Given the description of an element on the screen output the (x, y) to click on. 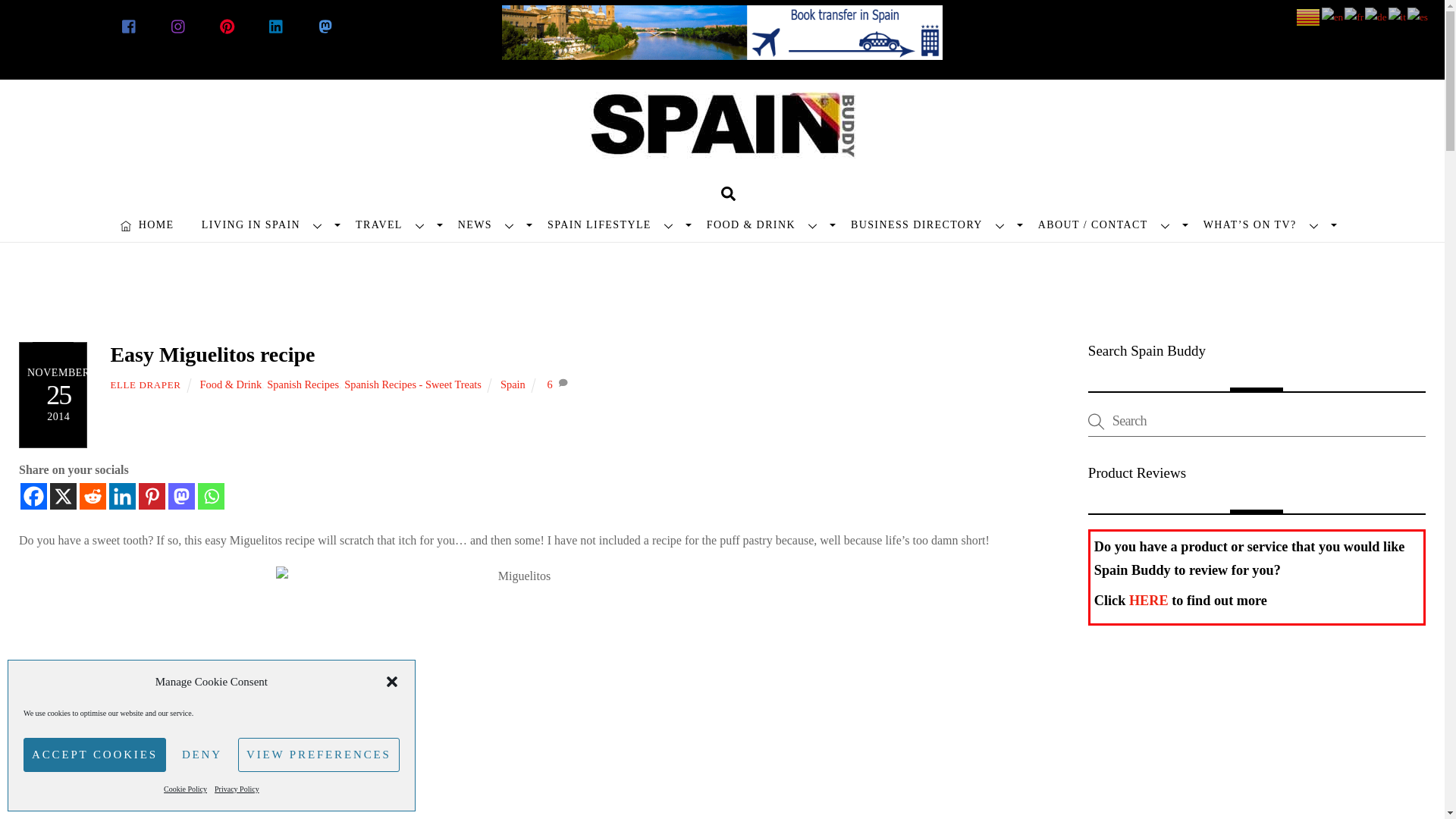
Search (727, 192)
Italiano (1398, 16)
TRAVEL (392, 224)
English (1333, 16)
Facebook (33, 496)
Privacy Policy (236, 789)
Linkedin (122, 496)
DENY (201, 754)
Reddit (93, 496)
Cookie Policy (184, 789)
Spain Buddy (722, 137)
Deutsch (1377, 16)
HOME (146, 224)
X (63, 496)
VIEW PREFERENCES (318, 754)
